Given the description of an element on the screen output the (x, y) to click on. 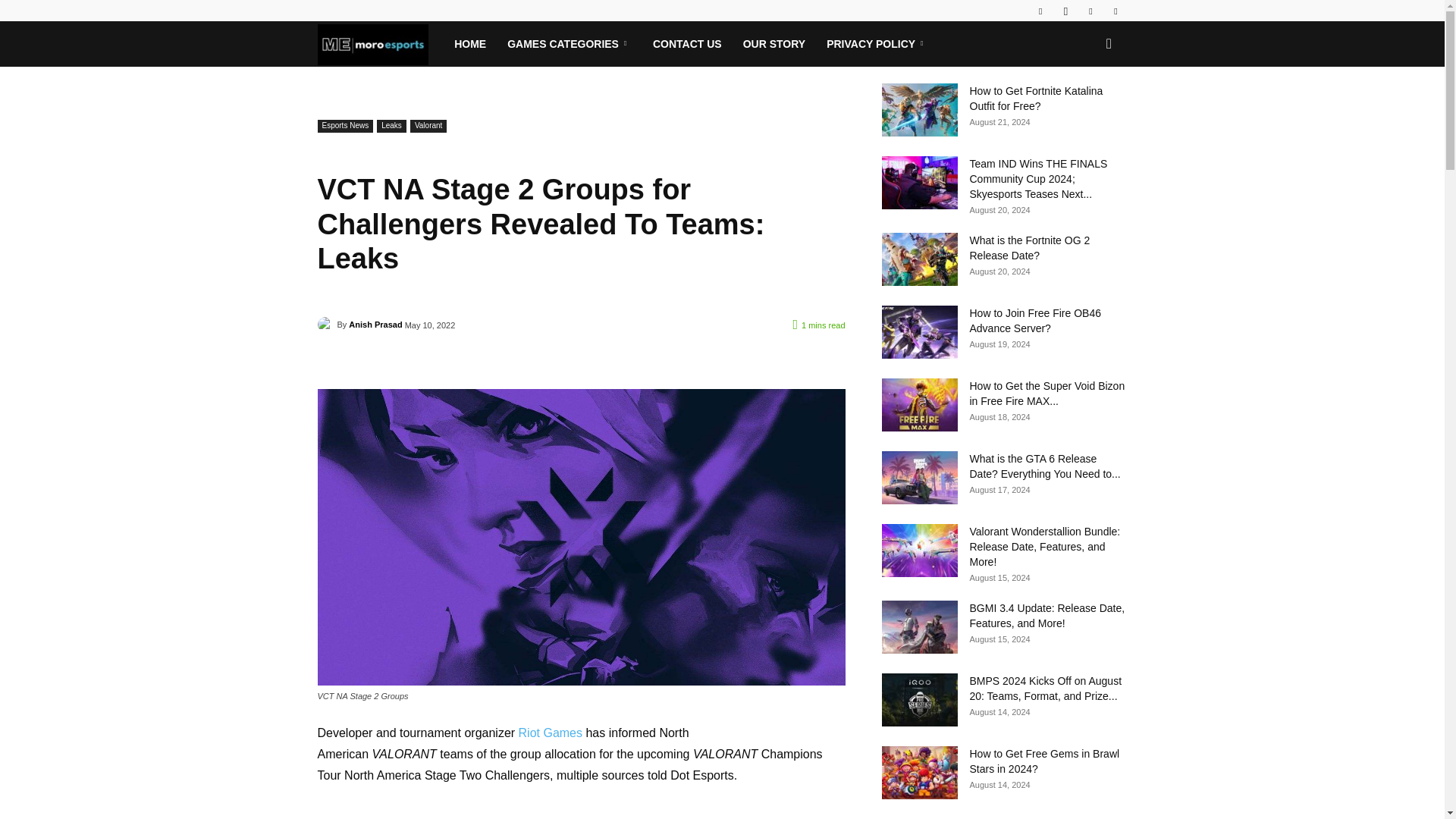
Instagram (1065, 10)
Facebook (1040, 10)
Linkedin (1090, 10)
Twitter (1114, 10)
Anish Prasad (326, 324)
